Given the description of an element on the screen output the (x, y) to click on. 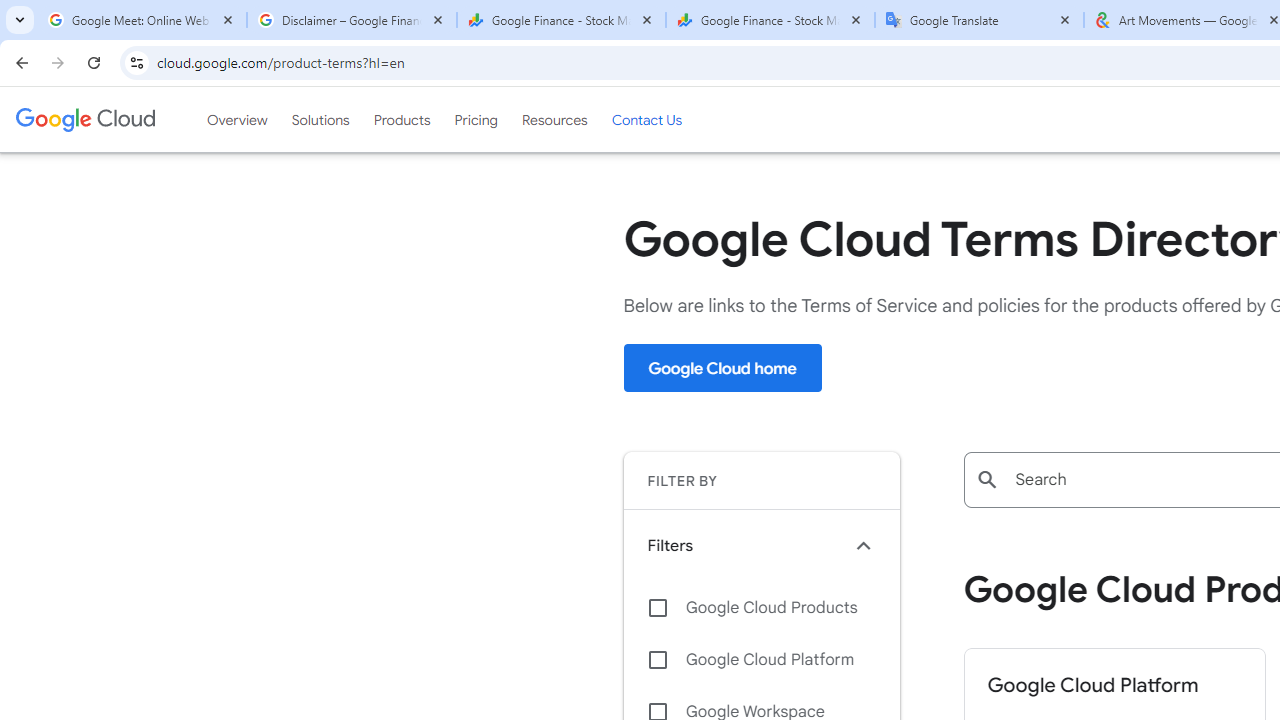
Products (401, 119)
Google Cloud Platform (761, 660)
Google Cloud home (722, 367)
Google Cloud Products (761, 607)
Google Translate (979, 20)
Filters keyboard_arrow_up (761, 545)
